Given the description of an element on the screen output the (x, y) to click on. 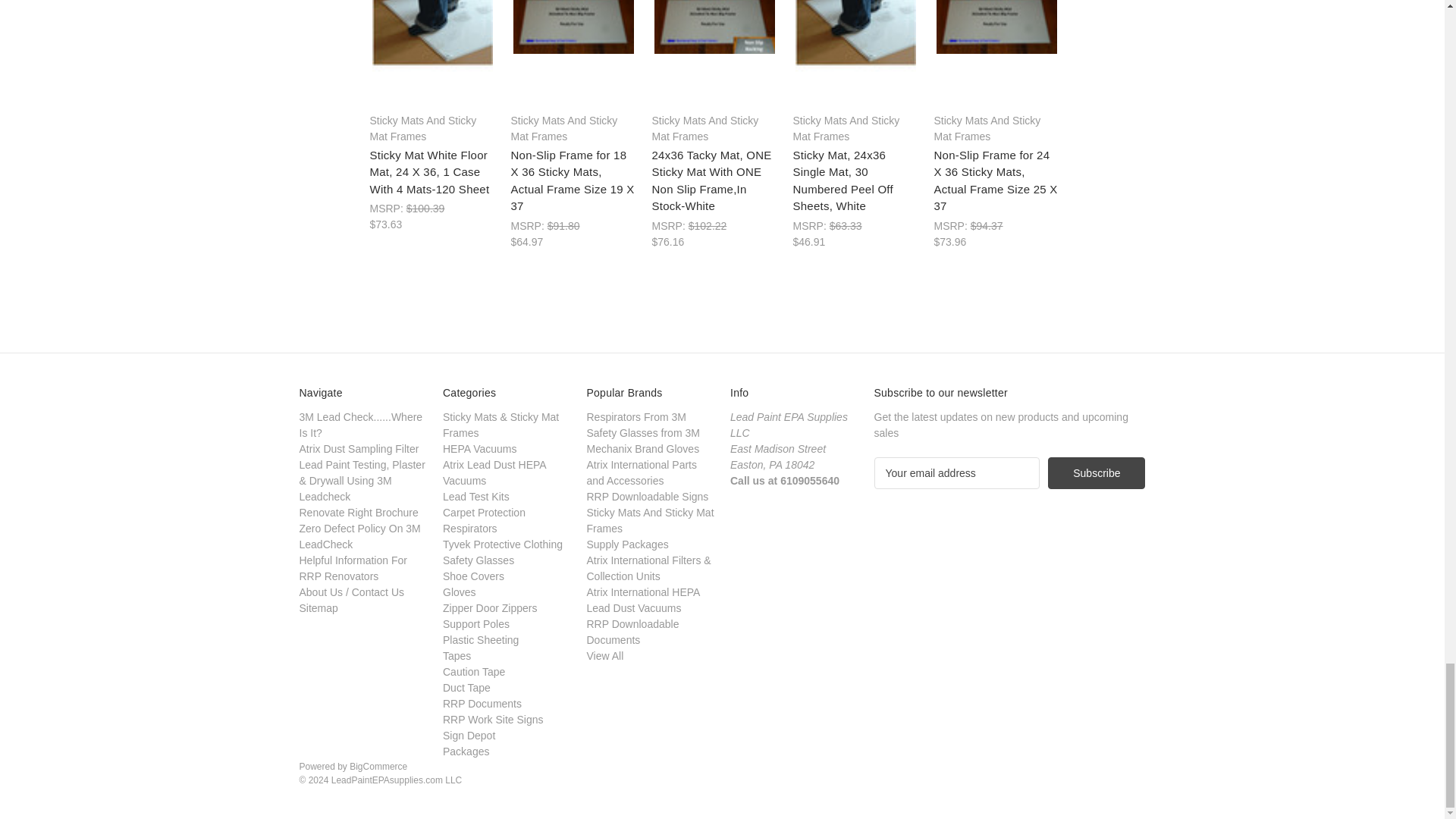
Subscribe (1096, 472)
